Given the description of an element on the screen output the (x, y) to click on. 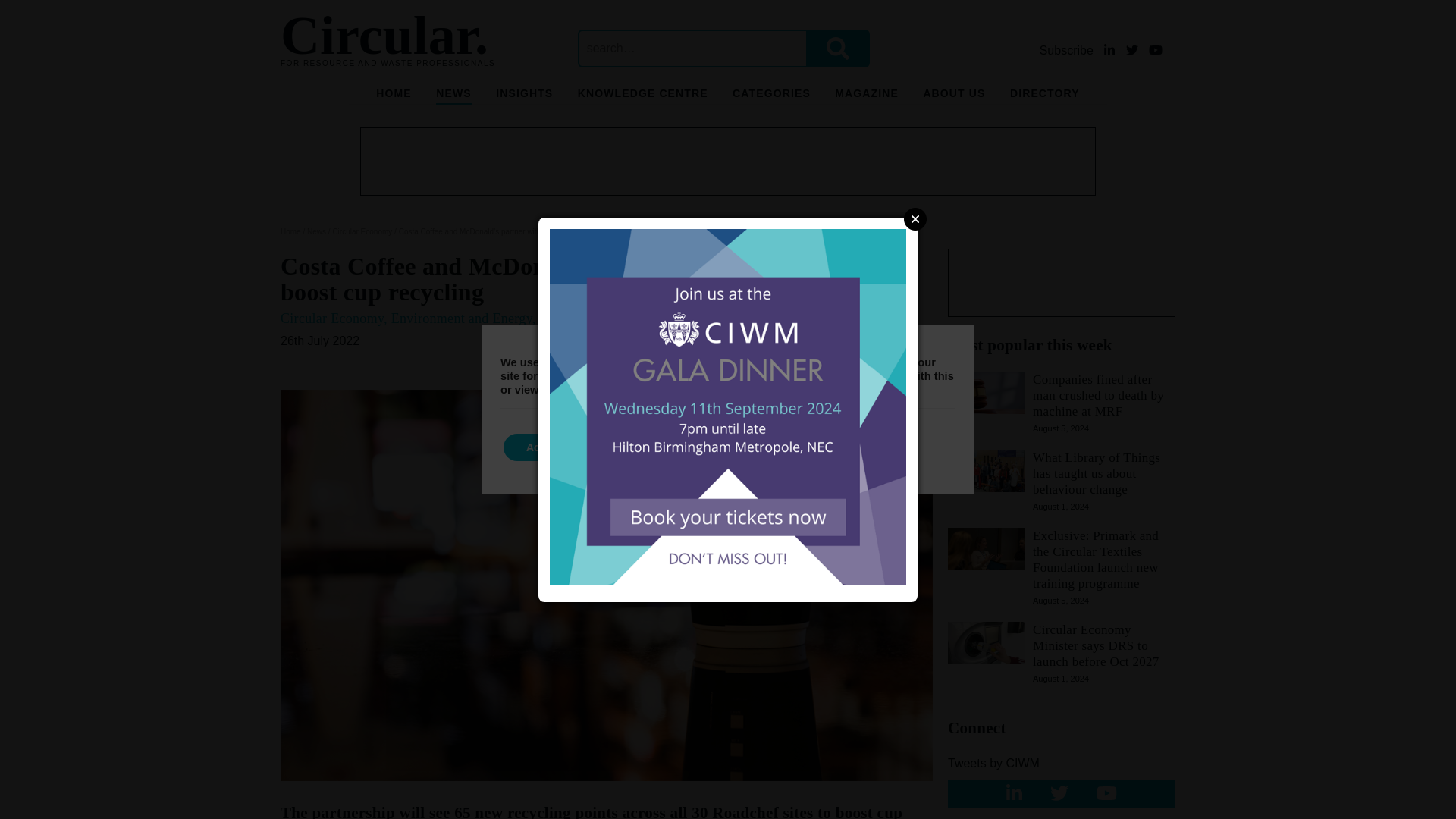
NEWS (452, 95)
HOME (392, 95)
MAGAZINE (866, 95)
3rd party ad content (1060, 282)
DIRECTORY (1045, 95)
Subscribe (1068, 50)
KNOWLEDGE CENTRE (642, 95)
INSIGHTS (524, 95)
ABOUT US (954, 95)
CATEGORIES (771, 95)
